Given the description of an element on the screen output the (x, y) to click on. 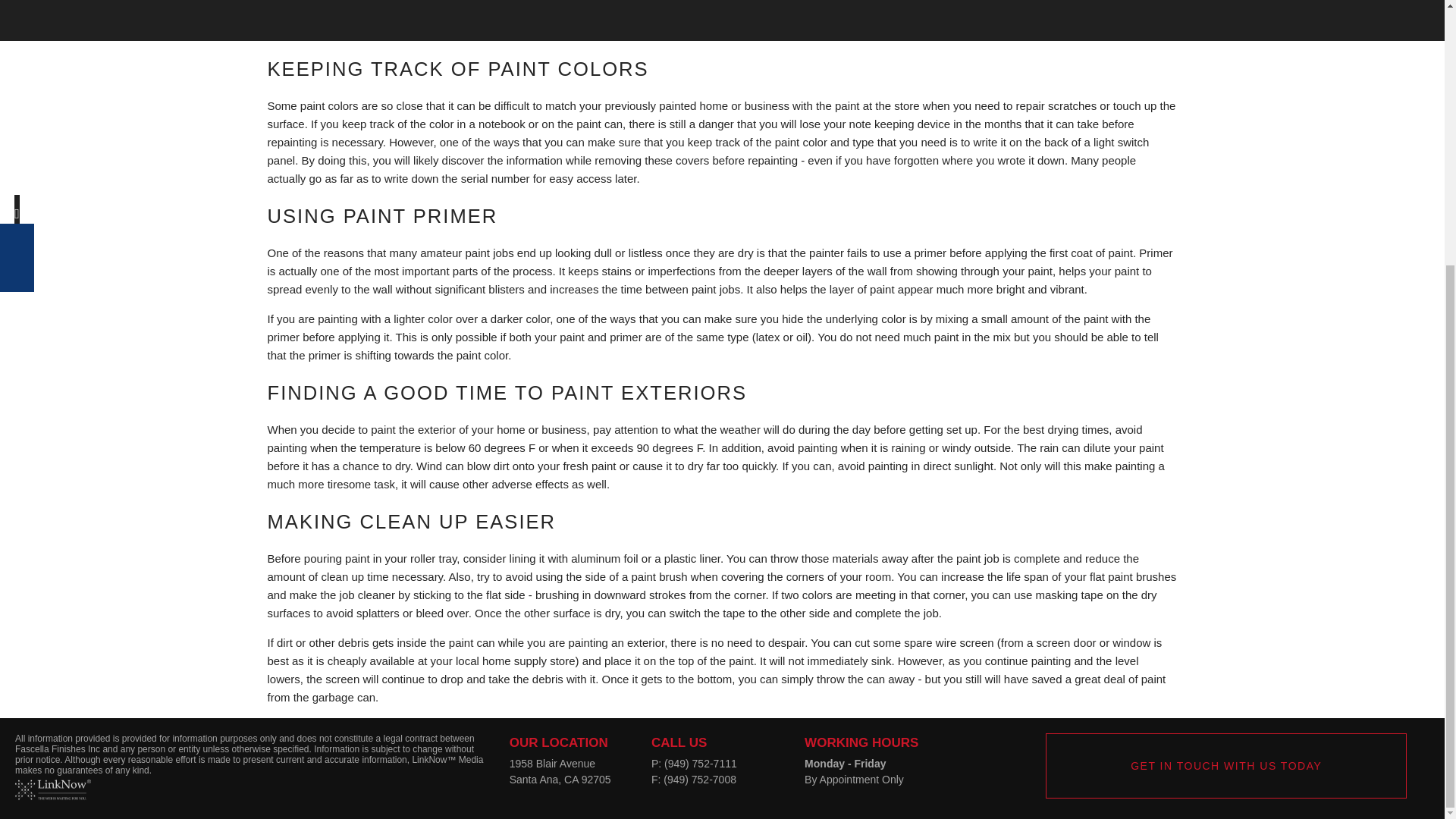
GET IN TOUCH WITH US TODAY (1225, 765)
